Given the description of an element on the screen output the (x, y) to click on. 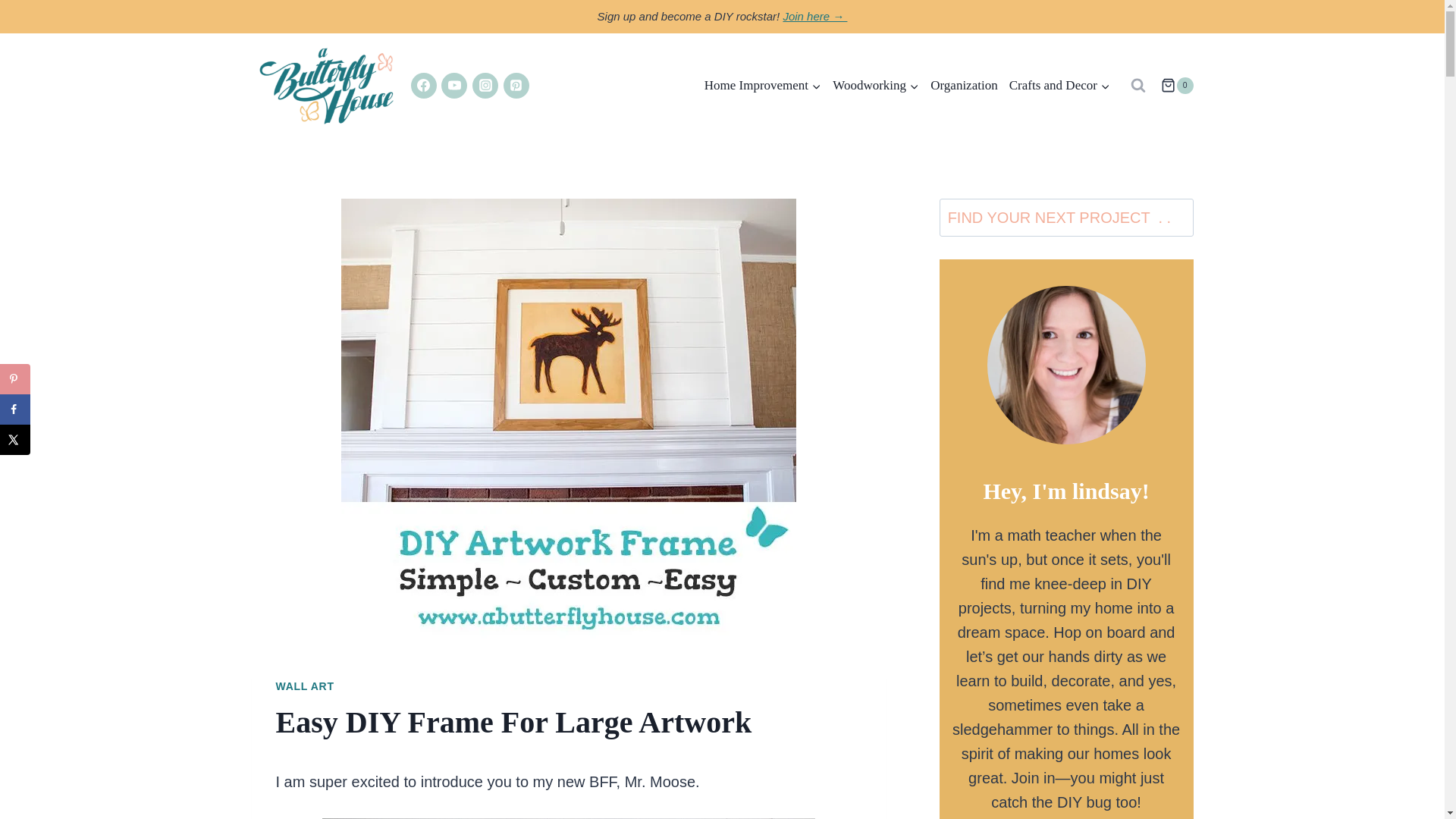
Woodworking (875, 85)
0 (1176, 85)
WALL ART (305, 686)
Organization (964, 85)
Crafts and Decor (1059, 85)
Home Improvement (762, 85)
